Given the description of an element on the screen output the (x, y) to click on. 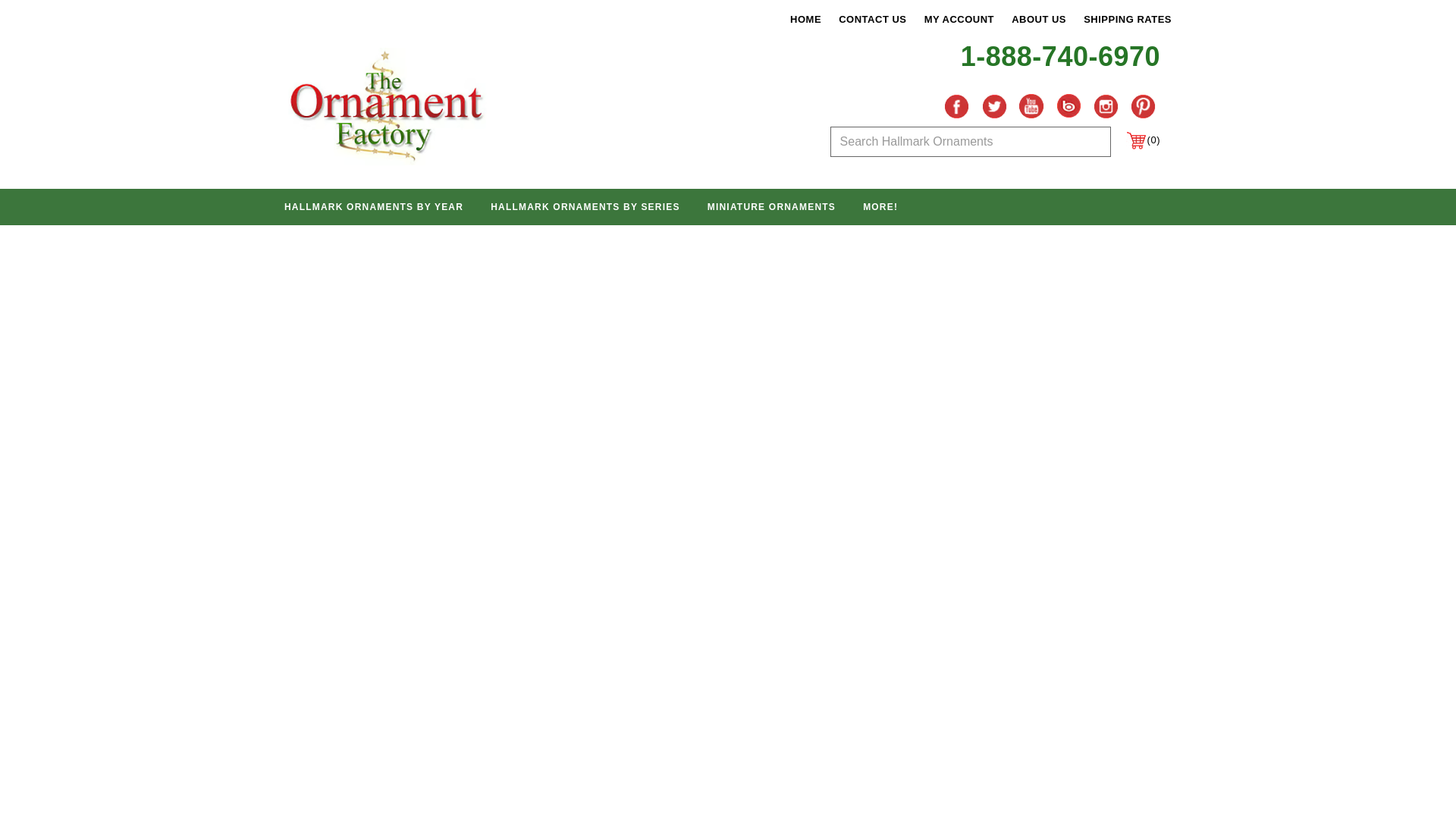
Follow Us on Twitter (994, 105)
Like Us on Facebook (956, 105)
SHIPPING RATES (1127, 19)
HOME (805, 19)
CONTACT US (871, 19)
HALLMARK ORNAMENTS BY YEAR (373, 207)
Subscribe to our Channel (1031, 105)
CONTACT US (871, 19)
MY ACCOUNT (959, 19)
SHIPPING RATES (1127, 19)
